Given the description of an element on the screen output the (x, y) to click on. 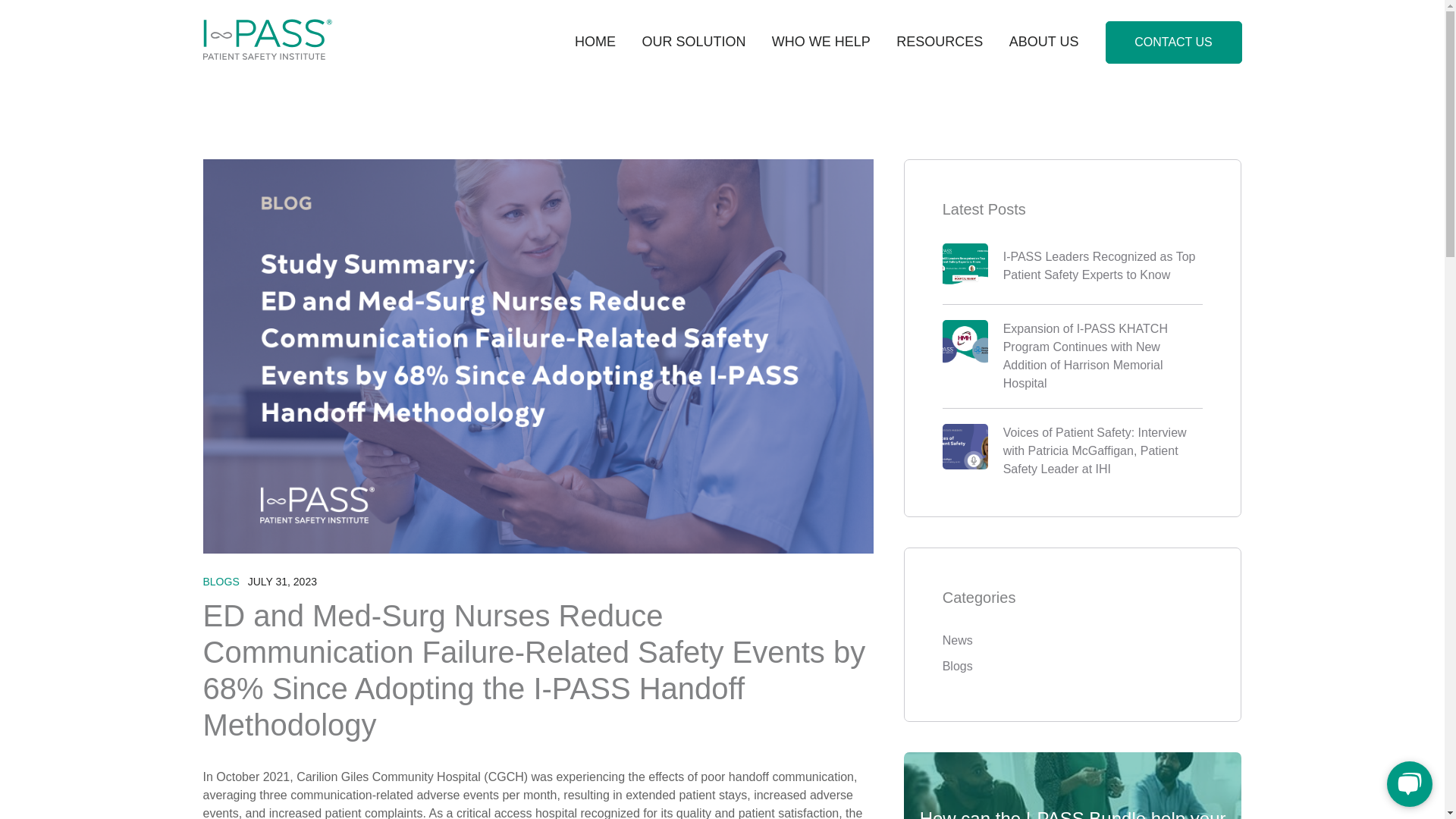
ABOUT US (1043, 41)
Contact Us (1173, 42)
Blogs (1073, 666)
BLOGS (221, 581)
CONTACT US (1173, 42)
RESOURCES (939, 41)
HOME (595, 41)
WHO WE HELP (820, 41)
News (1073, 640)
OUR SOLUTION (693, 41)
